Given the description of an element on the screen output the (x, y) to click on. 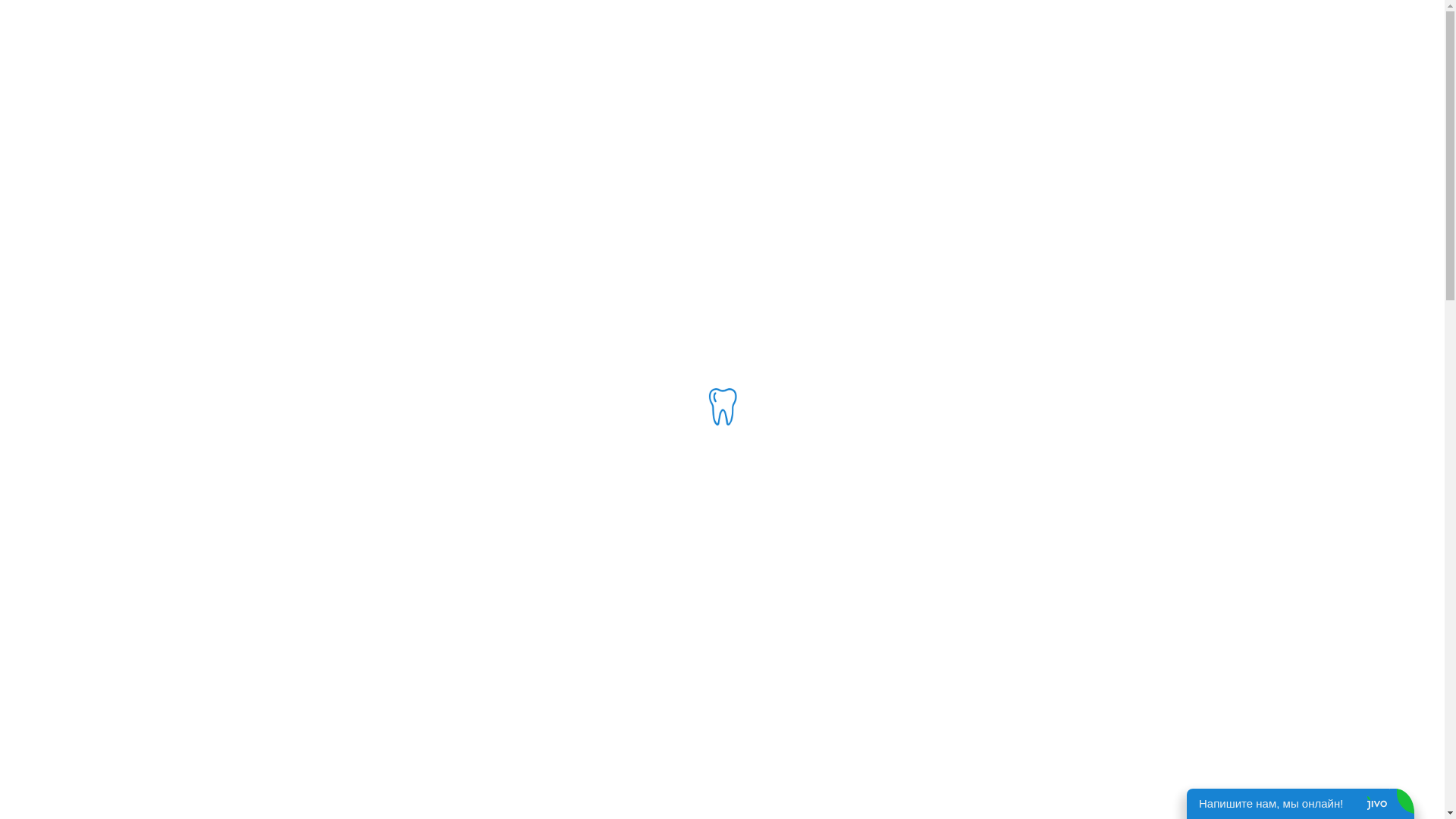
+375 44 733-01-01 Element type: text (495, 14)
info@dentix.by Element type: text (753, 15)
+375 17 303-01-01 Element type: text (593, 14)
